Given the description of an element on the screen output the (x, y) to click on. 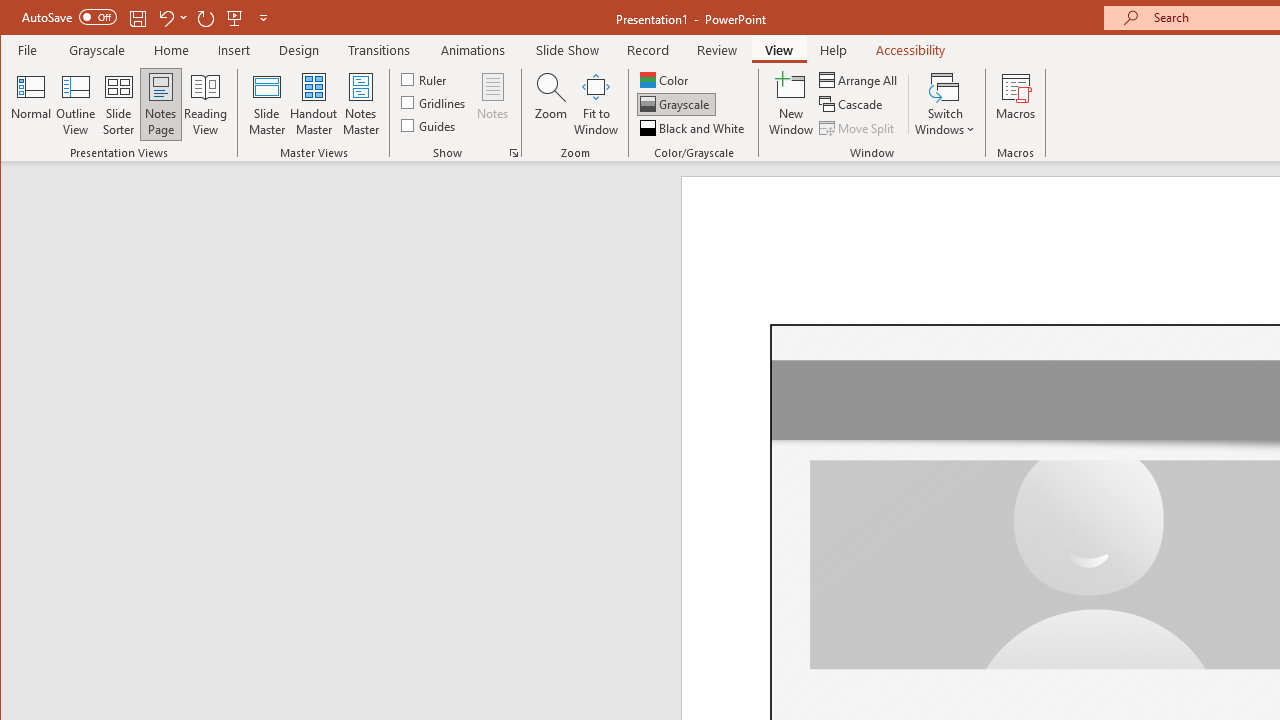
Macros (1016, 104)
Black and White (694, 127)
Outline View (75, 104)
Slide Master (266, 104)
Zoom... (550, 104)
Grayscale (97, 50)
Ruler (425, 78)
